Given the description of an element on the screen output the (x, y) to click on. 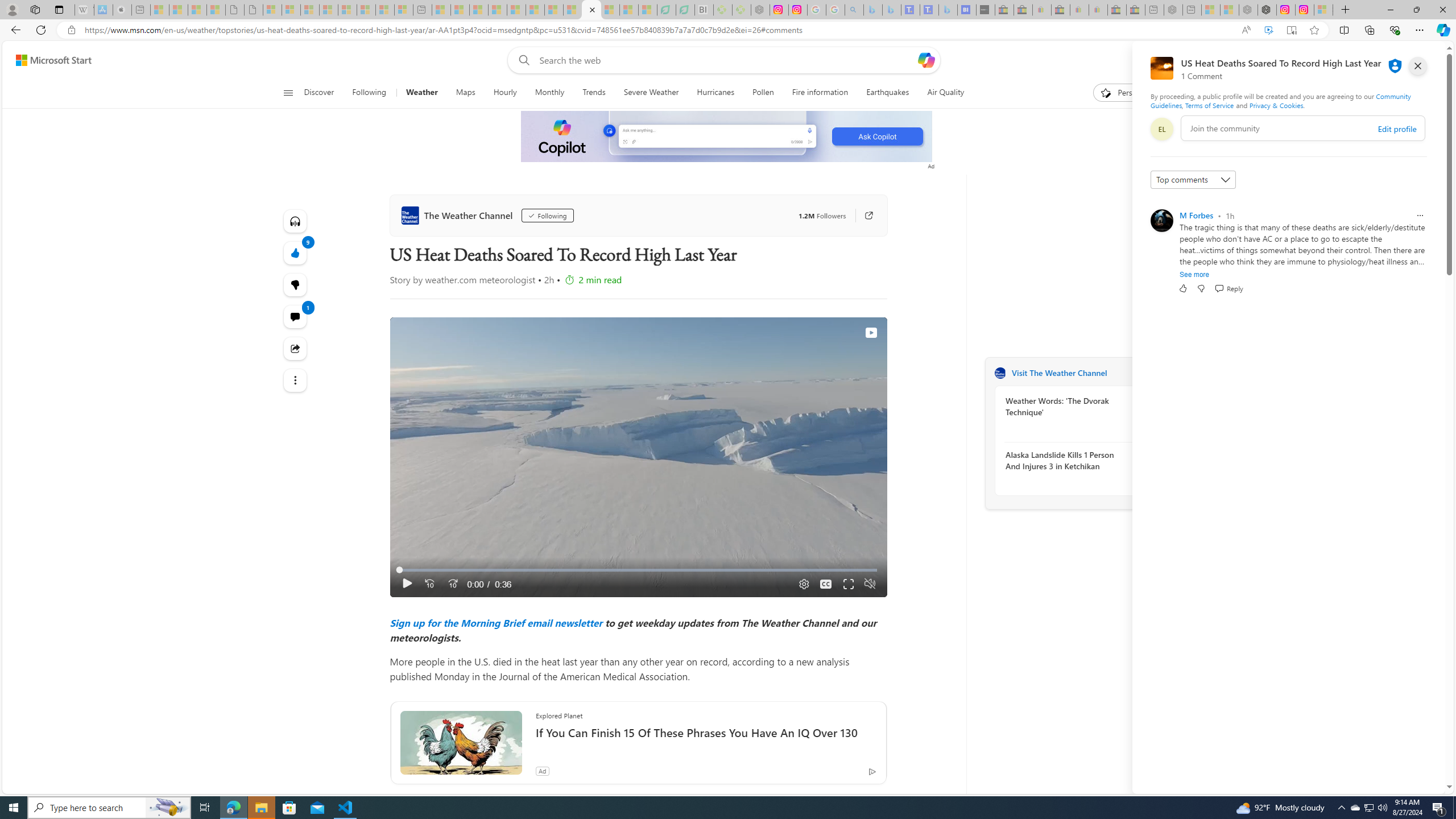
LendingTree - Compare Lenders - Sleeping (684, 9)
Descarga Driver Updater - Sleeping (741, 9)
Edit profile (1396, 128)
Progress Bar (638, 569)
Report comment (1419, 215)
Unmute (868, 583)
Maps (465, 92)
Visit The Weather Channel website (1140, 372)
Sort comments by (1193, 179)
Maps (465, 92)
Marine life - MSN - Sleeping (459, 9)
